Given the description of an element on the screen output the (x, y) to click on. 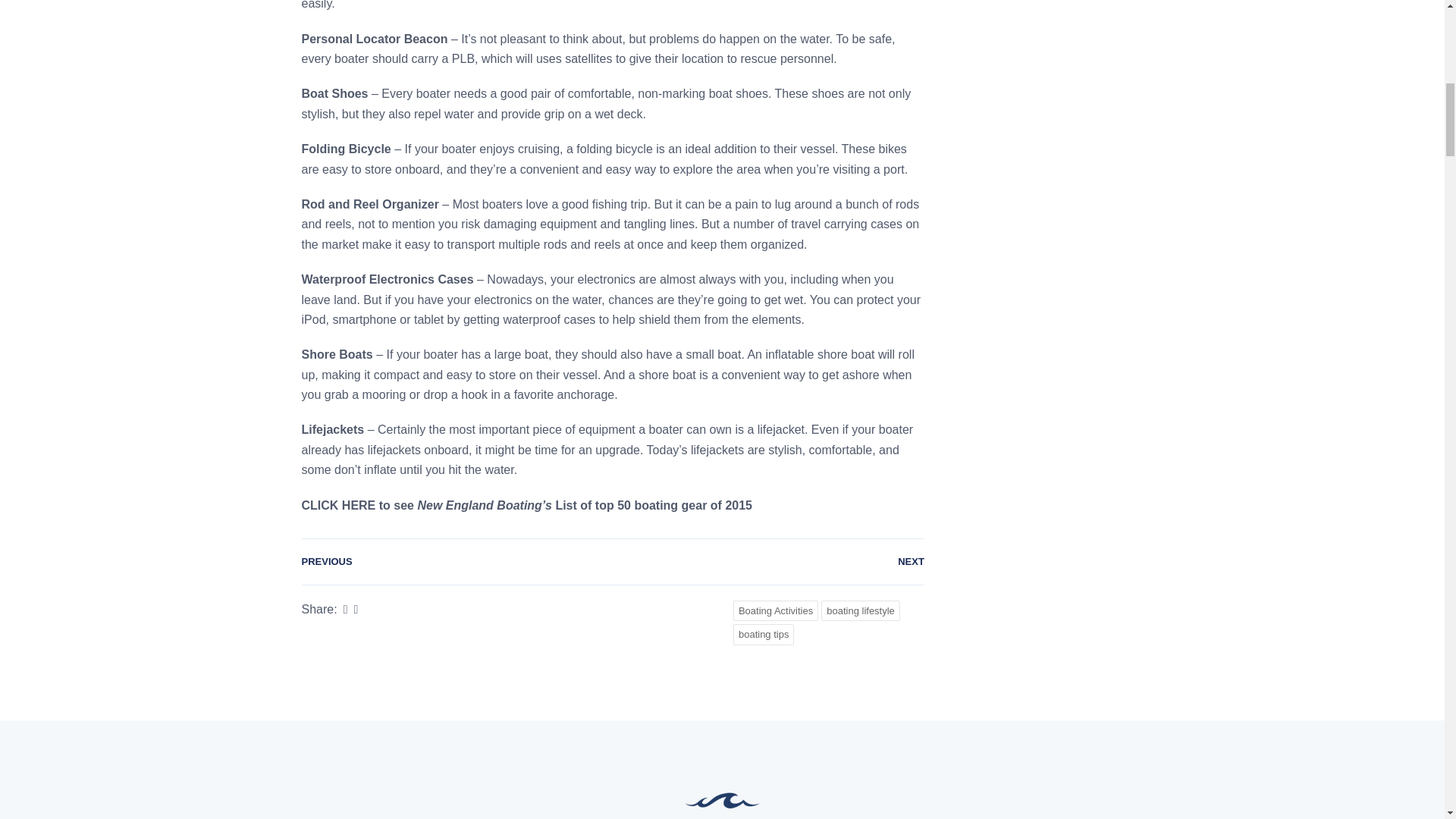
Boating Activities (775, 610)
PREVIOUS (326, 561)
boating tips (763, 634)
boating lifestyle (860, 610)
NEXT (911, 561)
